Given the description of an element on the screen output the (x, y) to click on. 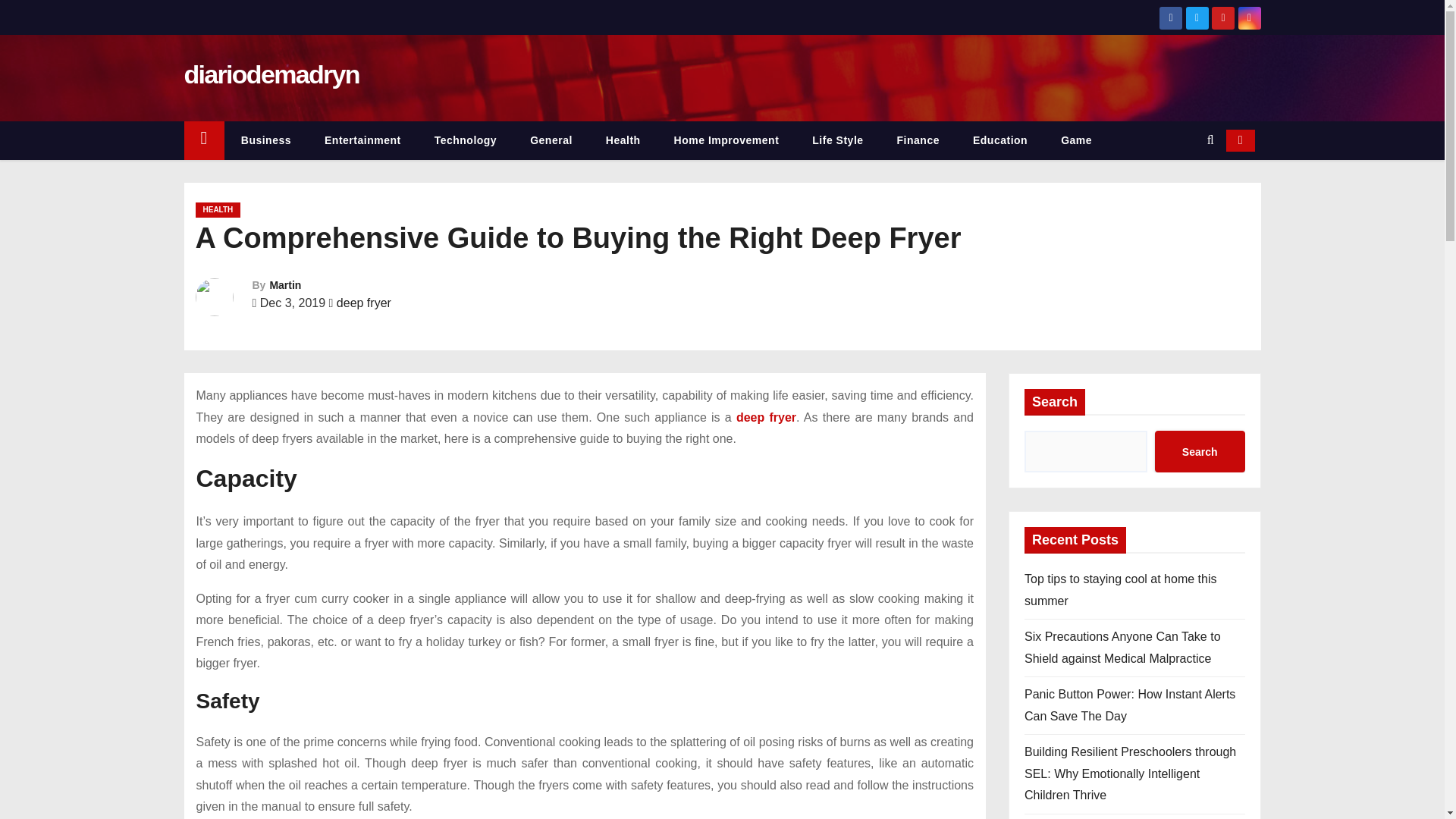
Business (265, 140)
General (551, 140)
Education (999, 140)
deep fryer (363, 302)
Life Style (836, 140)
Finance (918, 140)
Education (999, 140)
Technology (465, 140)
Health (623, 140)
Entertainment (362, 140)
HEALTH (218, 209)
Business (265, 140)
Health (623, 140)
Martin (285, 285)
Technology (465, 140)
